Given the description of an element on the screen output the (x, y) to click on. 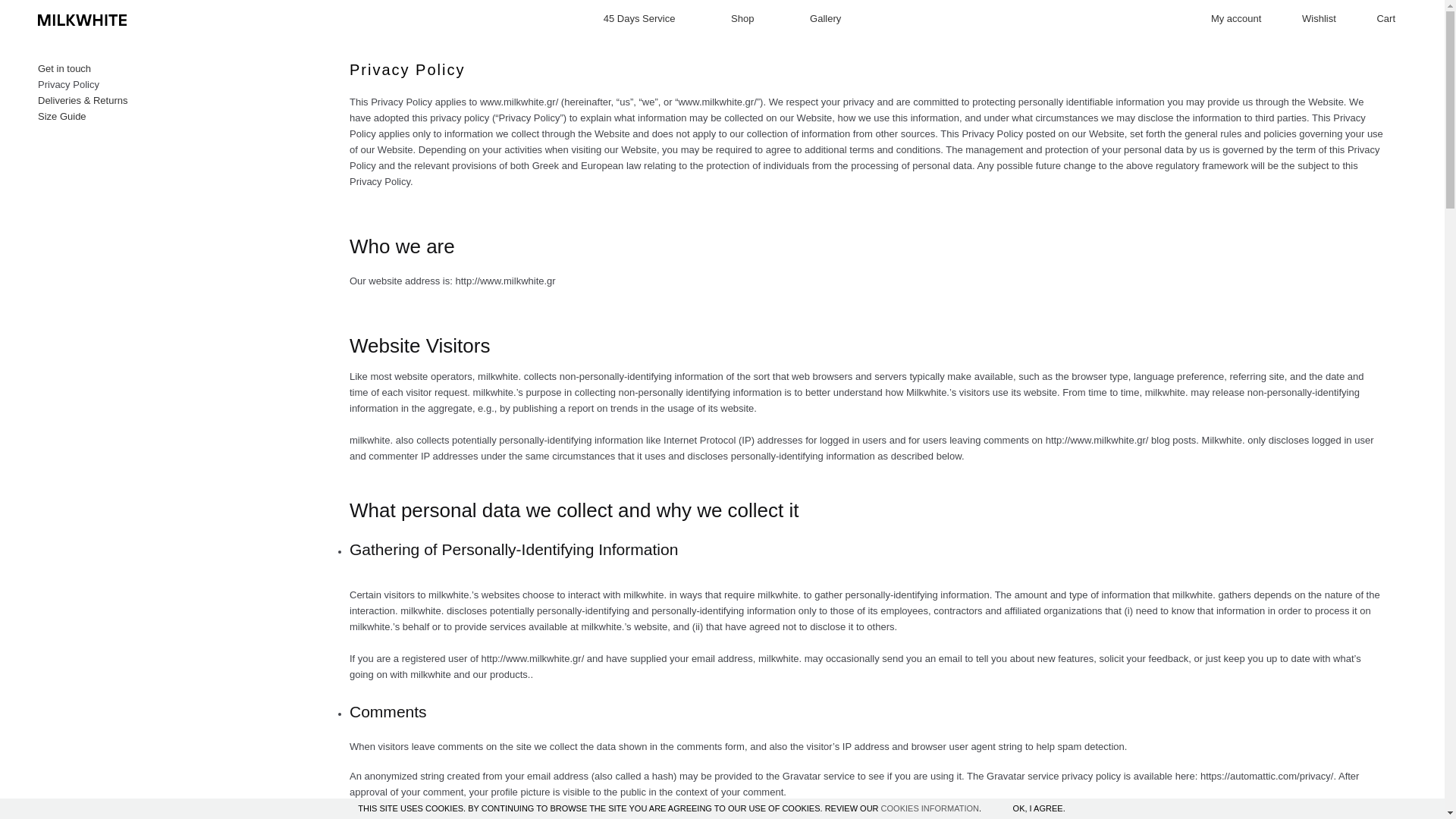
Privacy Policy (68, 84)
Wishlist (1318, 18)
Shop (742, 18)
Gallery (825, 18)
COOKIES INFORMATION (929, 808)
My account (1235, 18)
Cart (1384, 18)
Get in touch (63, 68)
Size Guide (61, 116)
45 Days Service (639, 18)
